Given the description of an element on the screen output the (x, y) to click on. 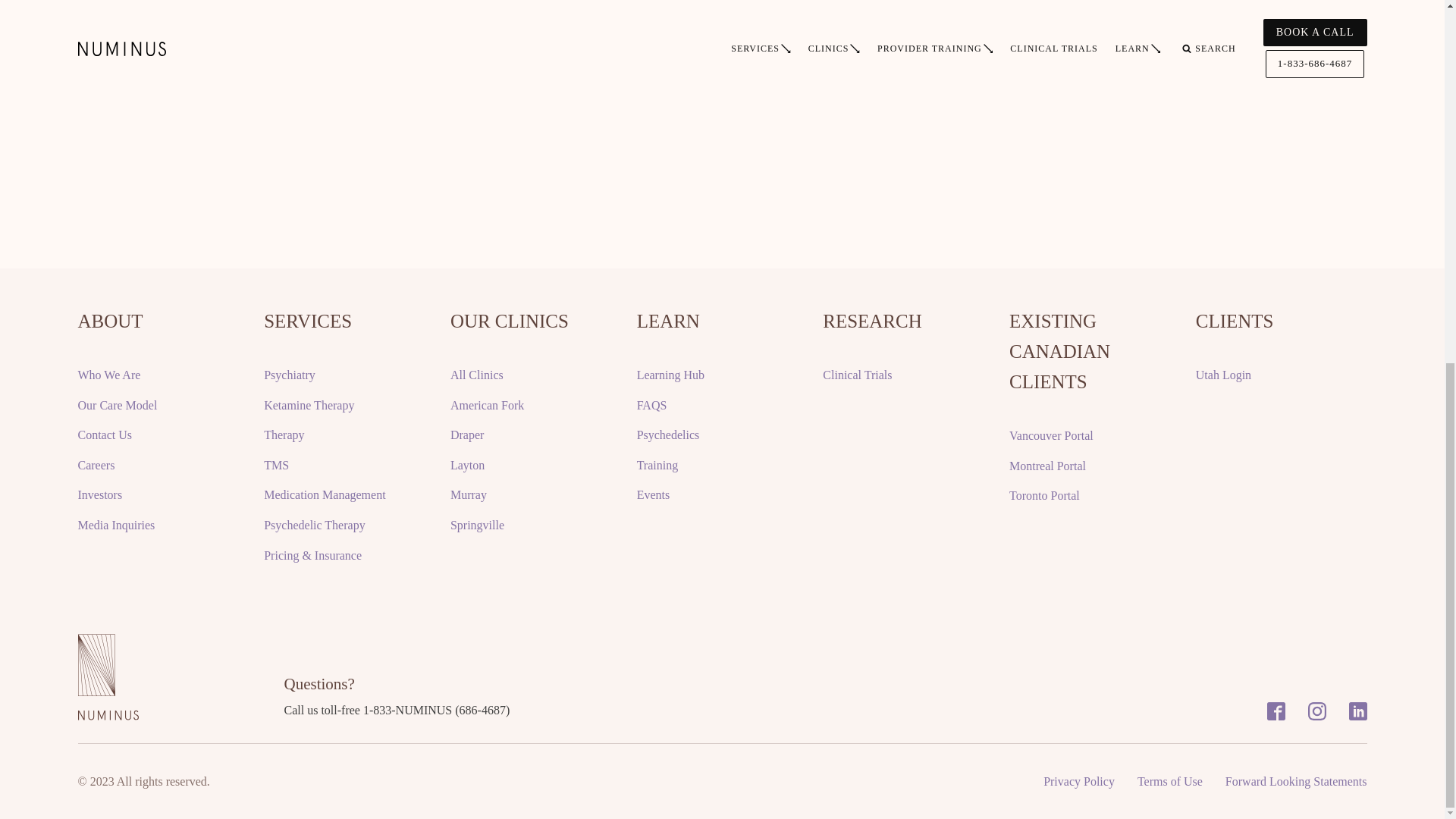
Careers (96, 465)
Investors (99, 495)
Who We Are (108, 374)
Contact Us (104, 435)
Media Inquiries (115, 525)
Our Care Model (117, 405)
